Given the description of an element on the screen output the (x, y) to click on. 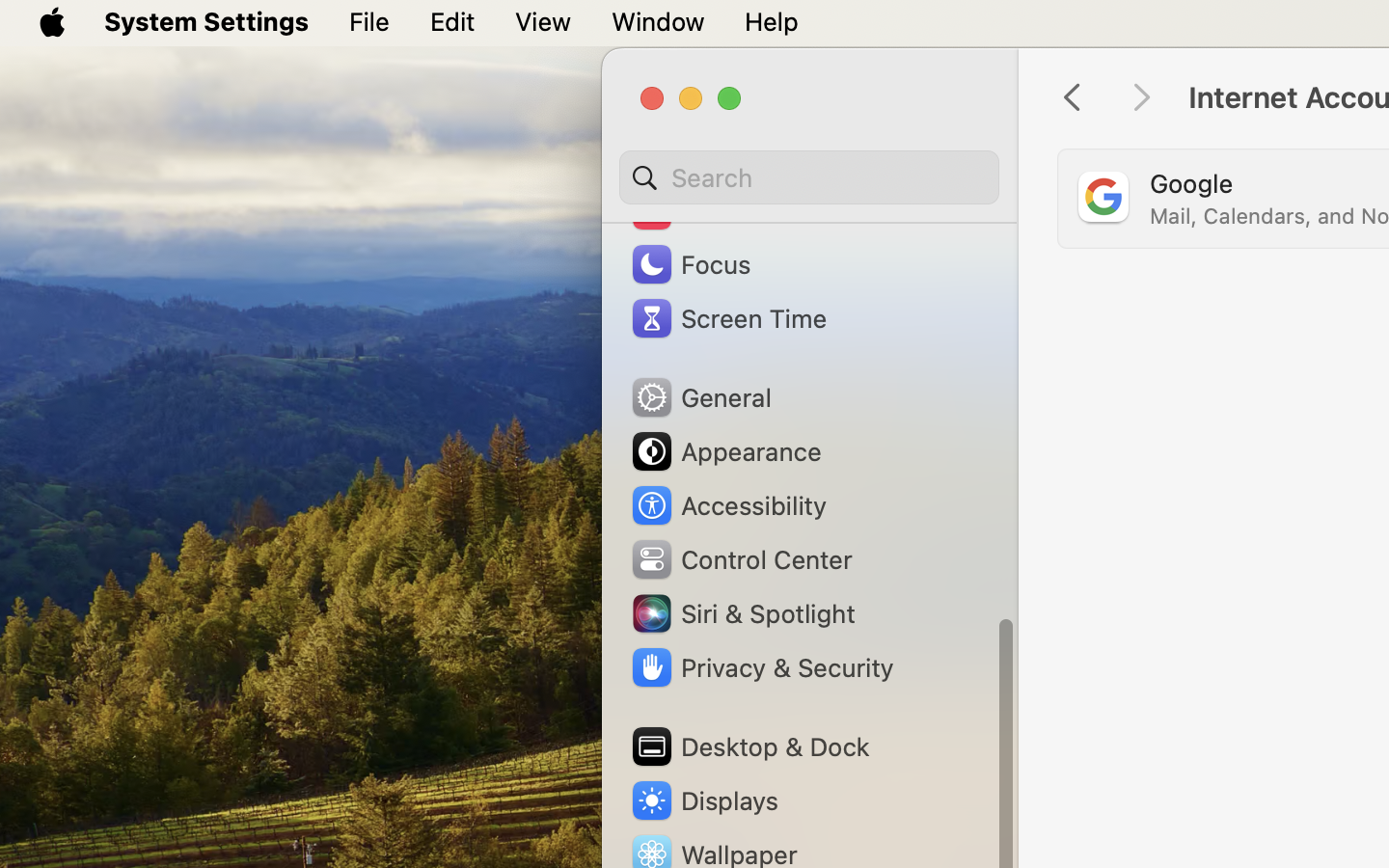
Privacy & Security Element type: AXStaticText (760, 667)
